Given the description of an element on the screen output the (x, y) to click on. 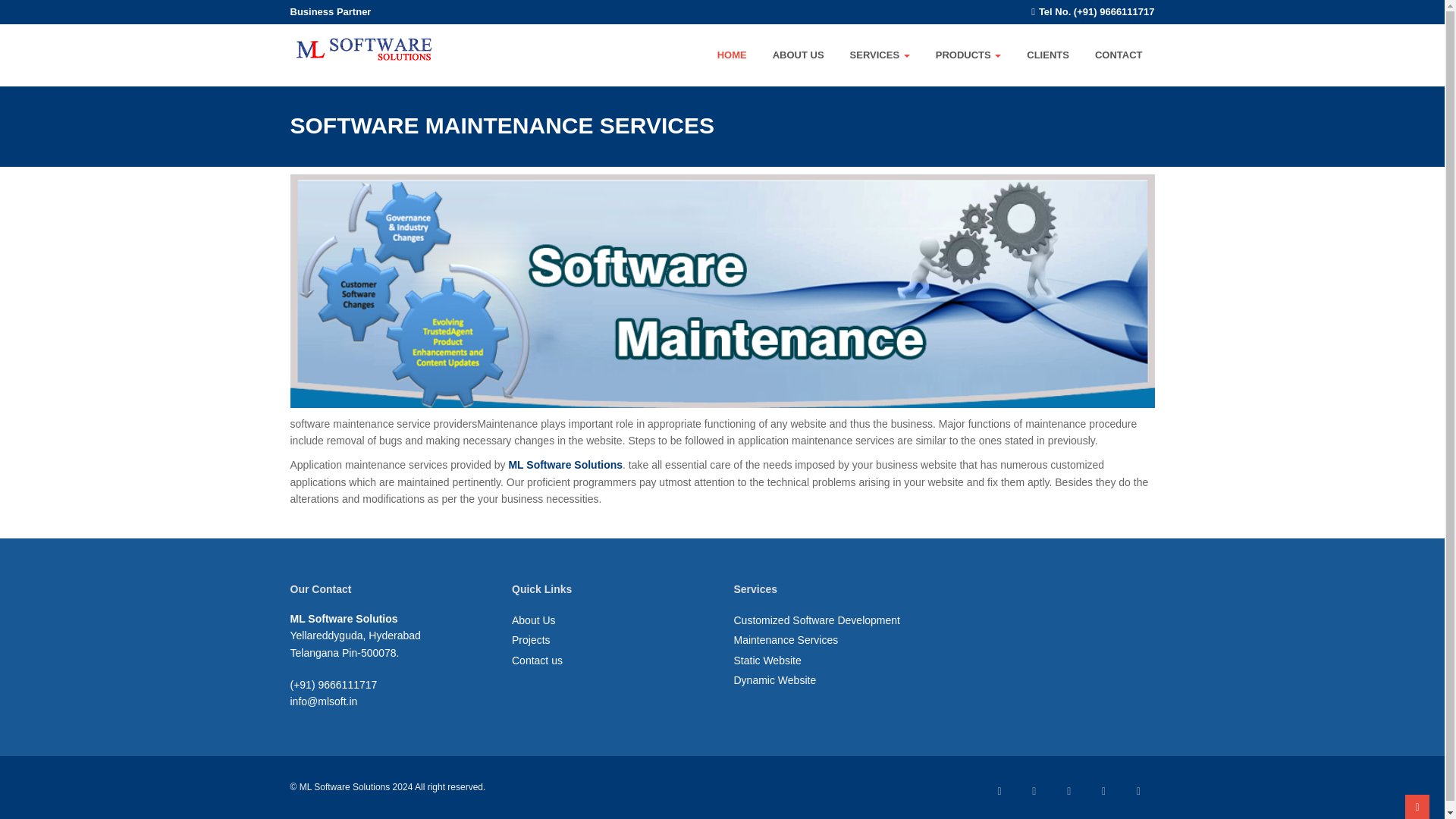
Projects (531, 639)
CLIENTS (1047, 55)
CONTACT (1118, 55)
ABOUT US (797, 55)
PRODUCTS (968, 55)
Dynamic Website (774, 680)
About Us (534, 620)
Static Website (767, 660)
Contact us (537, 660)
Maintenance Services (785, 639)
